Given the description of an element on the screen output the (x, y) to click on. 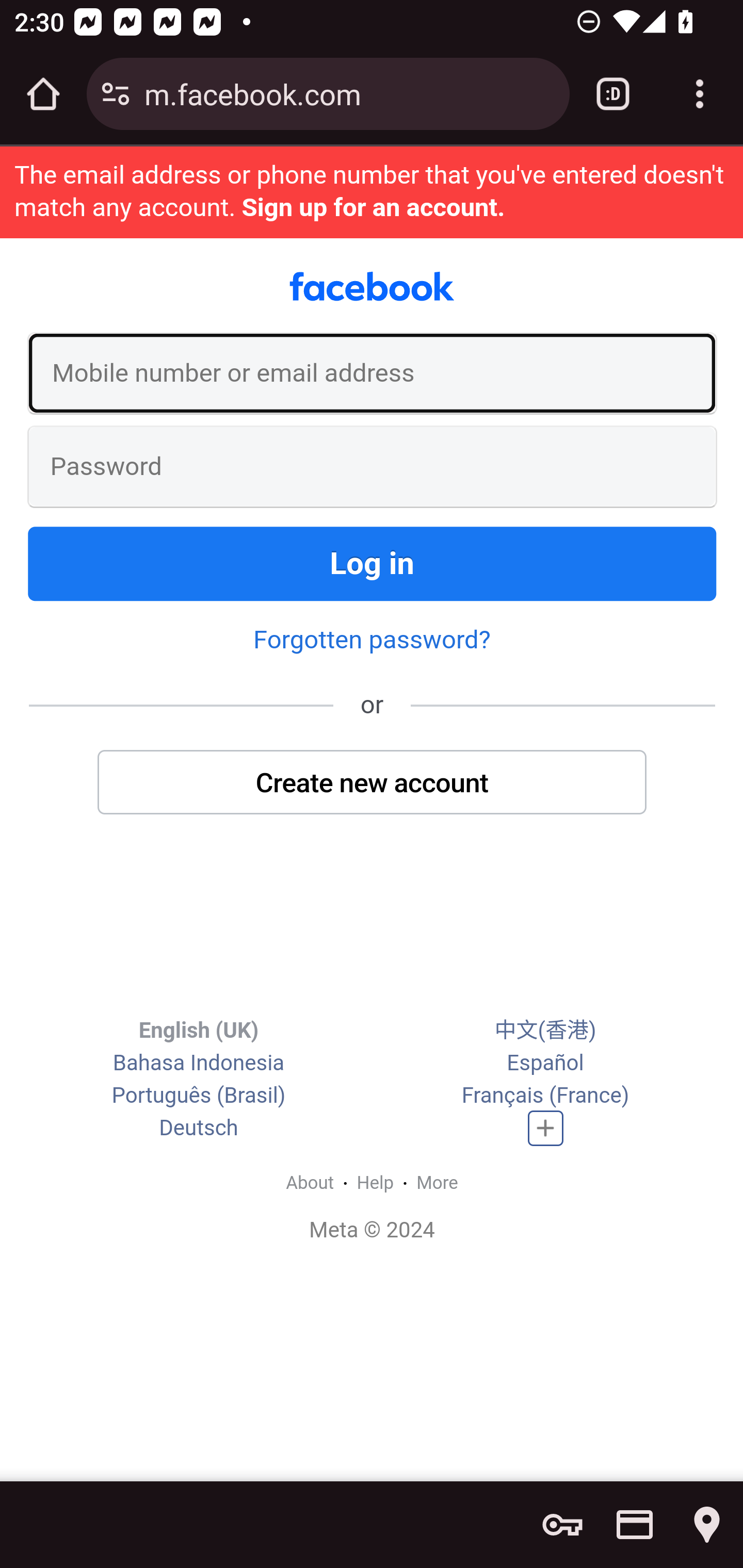
Open the home page (43, 93)
Connection is secure (115, 93)
Switch or close tabs (612, 93)
Customize and control Google Chrome (699, 93)
m.facebook.com (349, 92)
Sign up for an account. (372, 207)
facebook (372, 286)
Log in (372, 563)
Forgotten password? (371, 639)
Create new account (372, 782)
中文(香港) (544, 1030)
Bahasa Indonesia (198, 1061)
Español (545, 1061)
Português (Brasil) (197, 1094)
Français (France) (544, 1094)
Complete list of languages (545, 1127)
Deutsch (198, 1127)
About (310, 1181)
Help (375, 1181)
Show saved passwords and password options (562, 1524)
Show saved payment methods (634, 1524)
Show saved addresses (706, 1524)
